Given the description of an element on the screen output the (x, y) to click on. 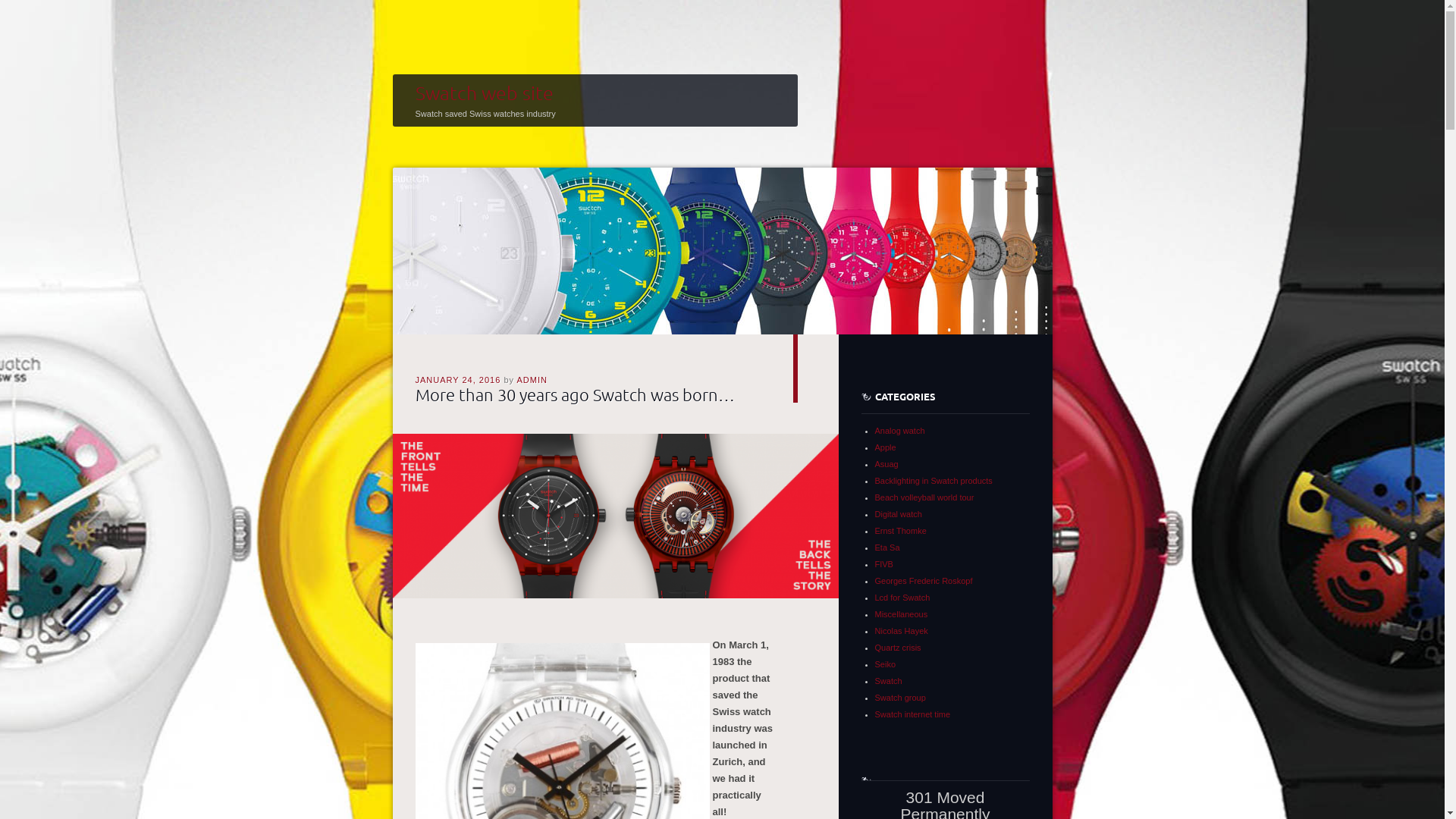
Backlighting in Swatch products Element type: text (933, 480)
Georges Frederic Roskopf Element type: text (923, 580)
Quartz crisis Element type: text (898, 647)
Miscellaneous Element type: text (901, 613)
Lcd for Swatch Element type: text (902, 597)
Asuag Element type: text (886, 463)
Swatch web site Element type: text (484, 92)
JANUARY 24, 2016 Element type: text (458, 378)
Eta Sa Element type: text (887, 547)
FIVB Element type: text (884, 563)
Seiko Element type: text (885, 663)
Apple Element type: text (885, 446)
Nicolas Hayek Element type: text (901, 630)
Ernst Thomke Element type: text (900, 530)
ADMIN Element type: text (531, 378)
Digital watch Element type: text (898, 513)
Swatch Element type: text (888, 680)
Analog watch Element type: text (900, 430)
Swatch group Element type: text (900, 697)
Beach volleyball world tour Element type: text (924, 497)
Swatch internet time Element type: text (912, 713)
